Given the description of an element on the screen output the (x, y) to click on. 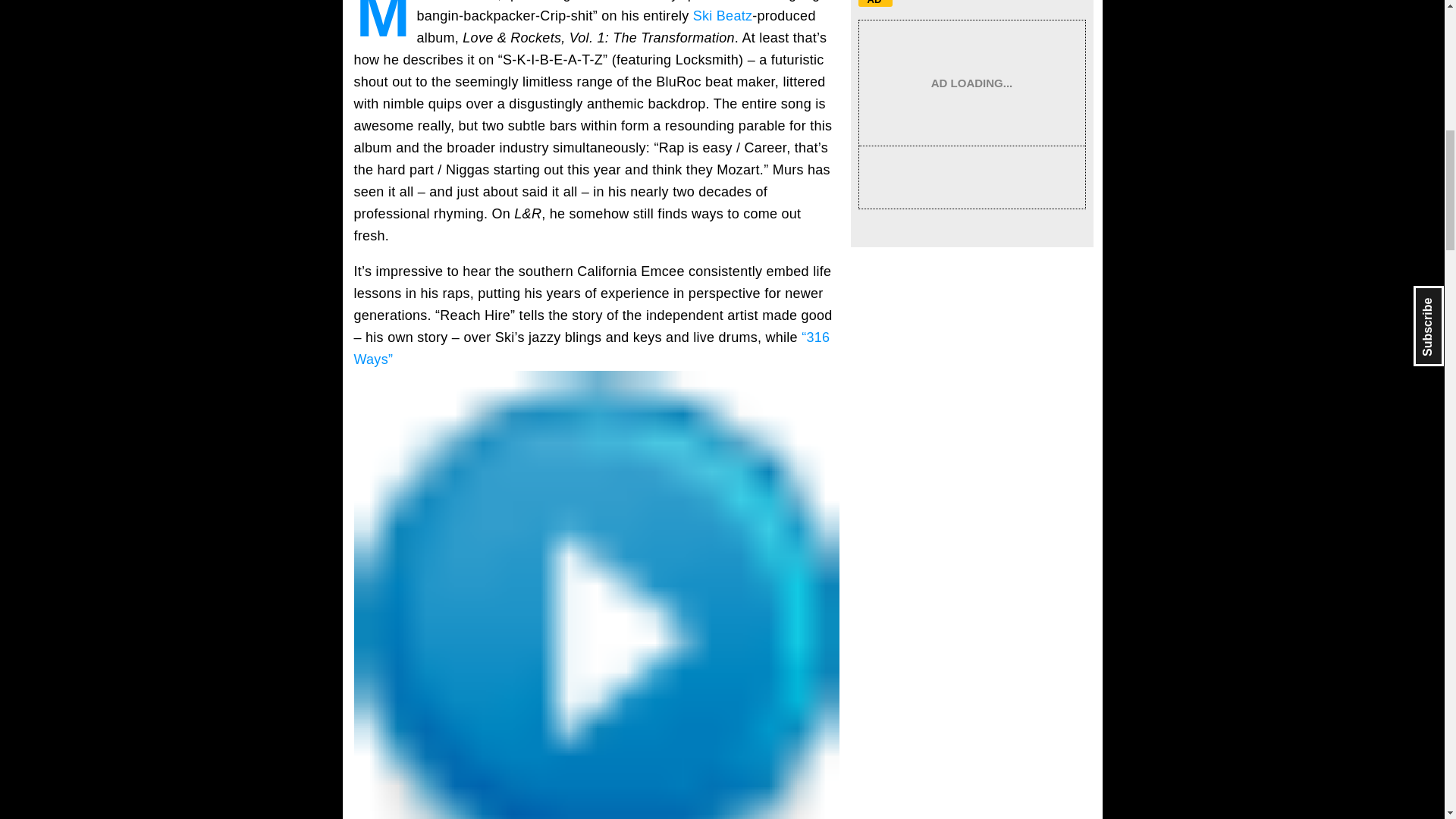
Ski Beatz (722, 15)
